Given the description of an element on the screen output the (x, y) to click on. 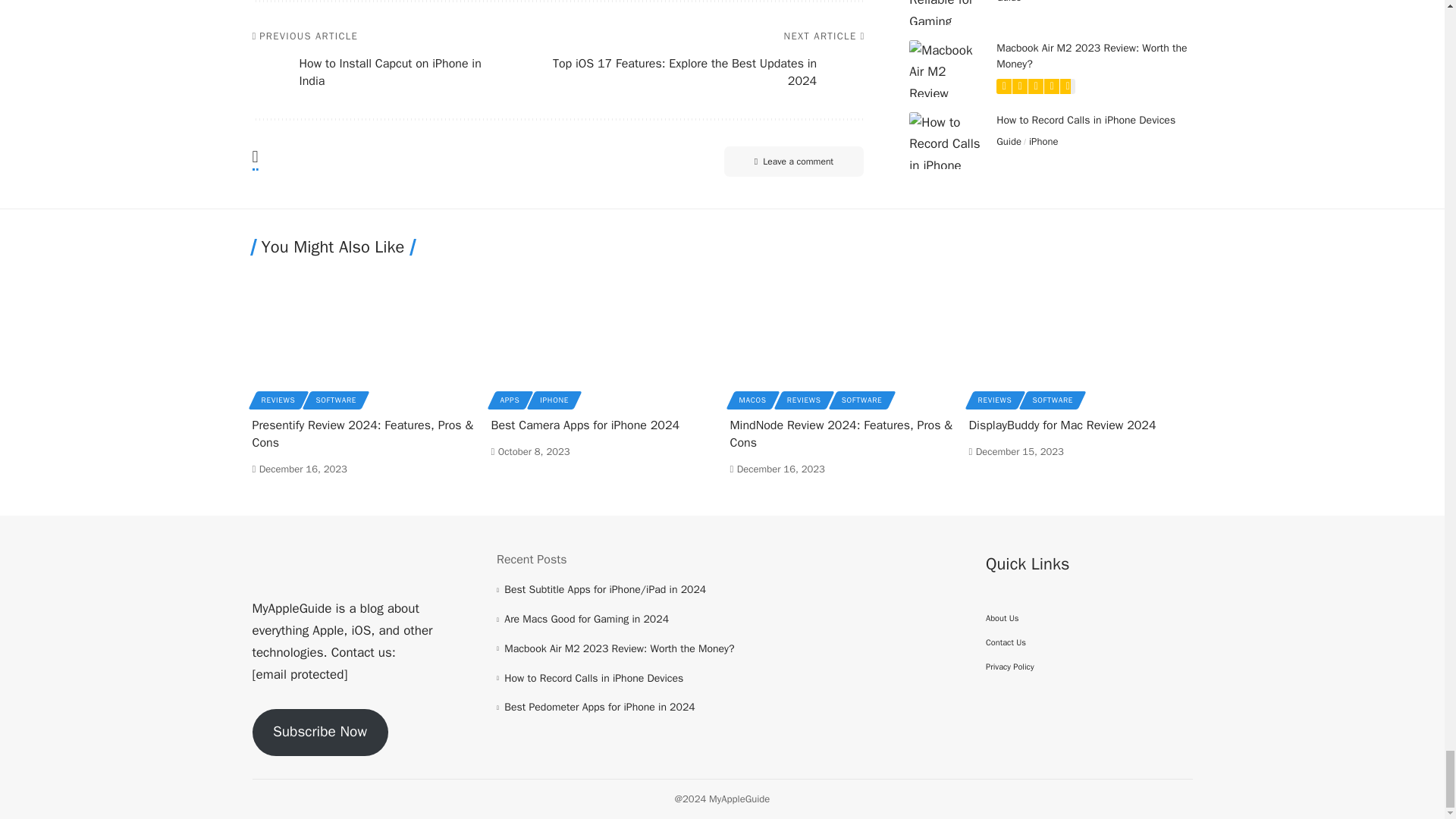
Best Camera Apps for iPhone 2024 (603, 337)
